Given the description of an element on the screen output the (x, y) to click on. 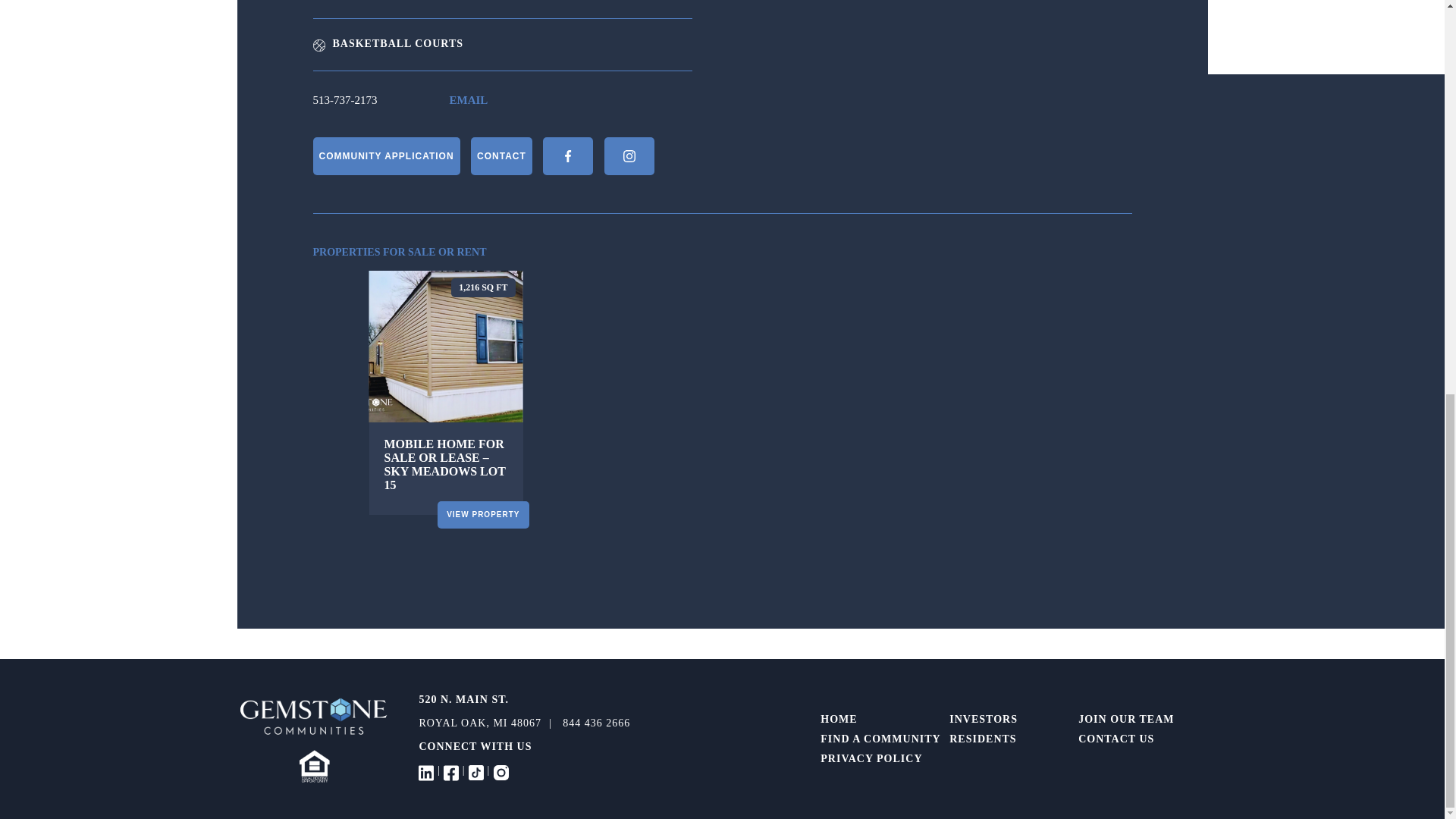
INSTAGRAM (628, 156)
CONTACT US (1116, 738)
INVESTORS (983, 718)
513-737-2173 (345, 100)
RESIDENTS (982, 738)
JOIN OUR TEAM (1125, 718)
844 436 2666 (596, 722)
VIEW PROPERTY (483, 514)
FIND A COMMUNITY (880, 738)
EMAIL (467, 100)
FACEBOOK (567, 156)
PRIVACY POLICY (871, 758)
CONTACT (501, 156)
COMMUNITY APPLICATION (386, 156)
HOME (839, 718)
